Given the description of an element on the screen output the (x, y) to click on. 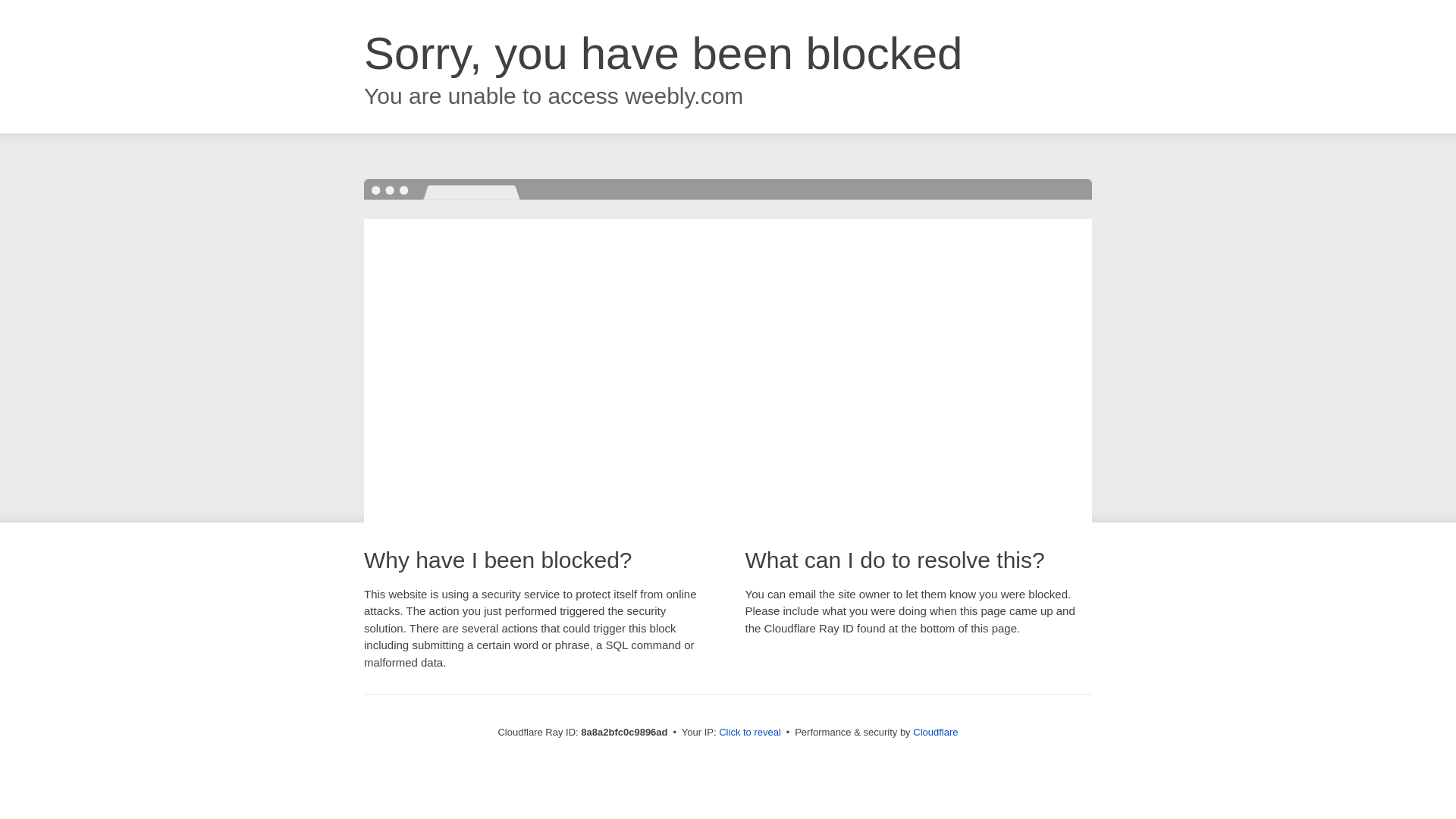
Cloudflare (935, 731)
Click to reveal (749, 732)
